Given the description of an element on the screen output the (x, y) to click on. 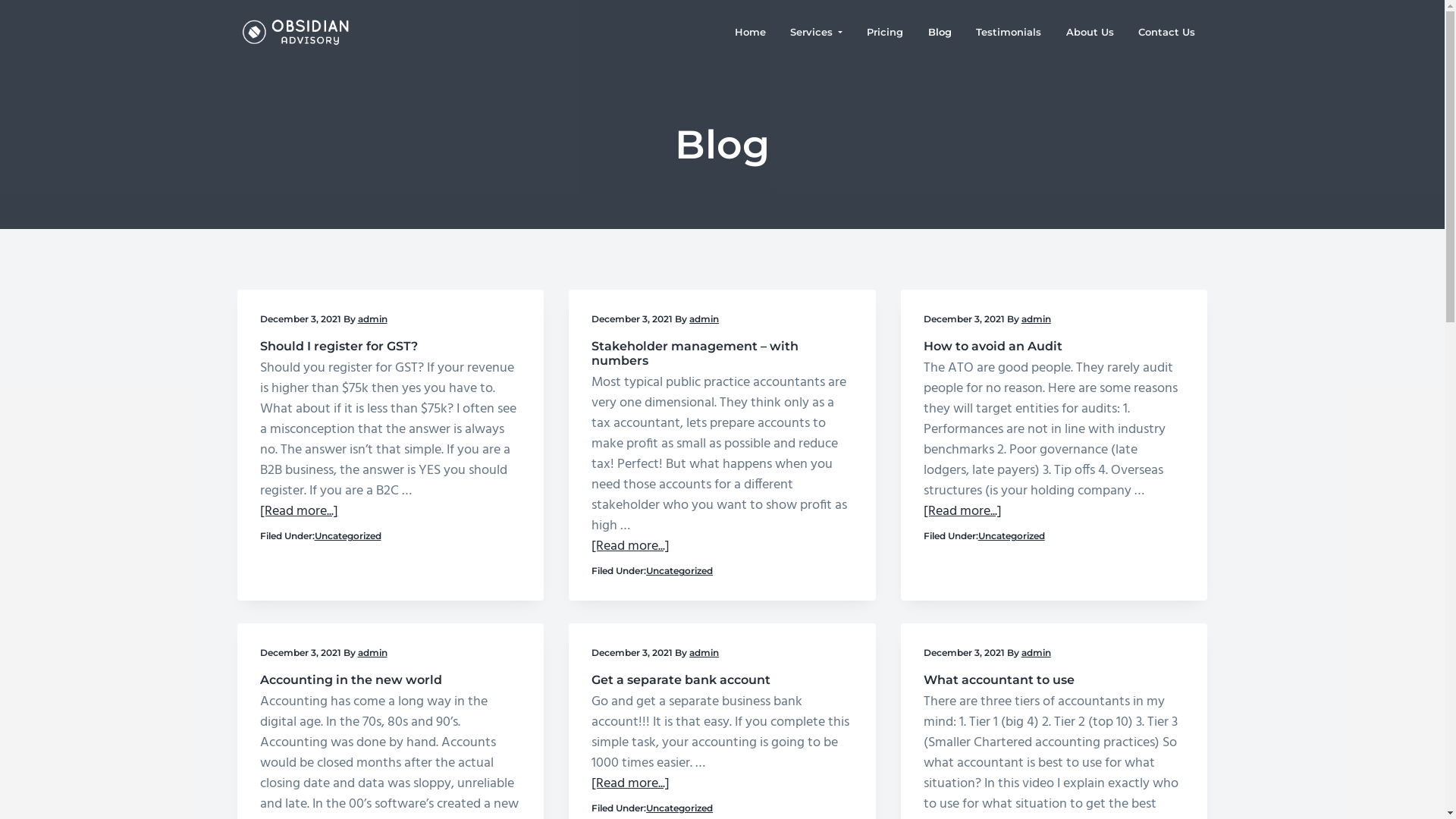
admin Element type: text (372, 652)
Get a separate bank account Element type: text (680, 679)
admin Element type: text (703, 652)
Services Element type: text (816, 31)
Pricing Element type: text (885, 31)
Uncategorized Element type: text (679, 570)
Obsidian Advisory - Sydney Accounting Firm Element type: text (387, 51)
Testimonials Element type: text (1008, 31)
Uncategorized Element type: text (346, 535)
Should I register for GST? Element type: text (338, 345)
Home Element type: text (749, 31)
How to avoid an Audit Element type: text (992, 345)
admin Element type: text (1036, 318)
Contact Us Element type: text (1167, 31)
admin Element type: text (1036, 652)
admin Element type: text (372, 318)
What accountant to use Element type: text (998, 679)
[Read more...]
about Should I register for GST? Element type: text (298, 511)
Uncategorized Element type: text (679, 808)
[Read more...]
about How to avoid an Audit Element type: text (962, 511)
Skip to primary navigation Element type: text (0, 0)
Accounting in the new world Element type: text (350, 679)
[Read more...]
about Get a separate bank account Element type: text (630, 783)
Uncategorized Element type: text (1011, 535)
Blog Element type: text (940, 31)
About Us Element type: text (1090, 31)
admin Element type: text (703, 318)
